Given the description of an element on the screen output the (x, y) to click on. 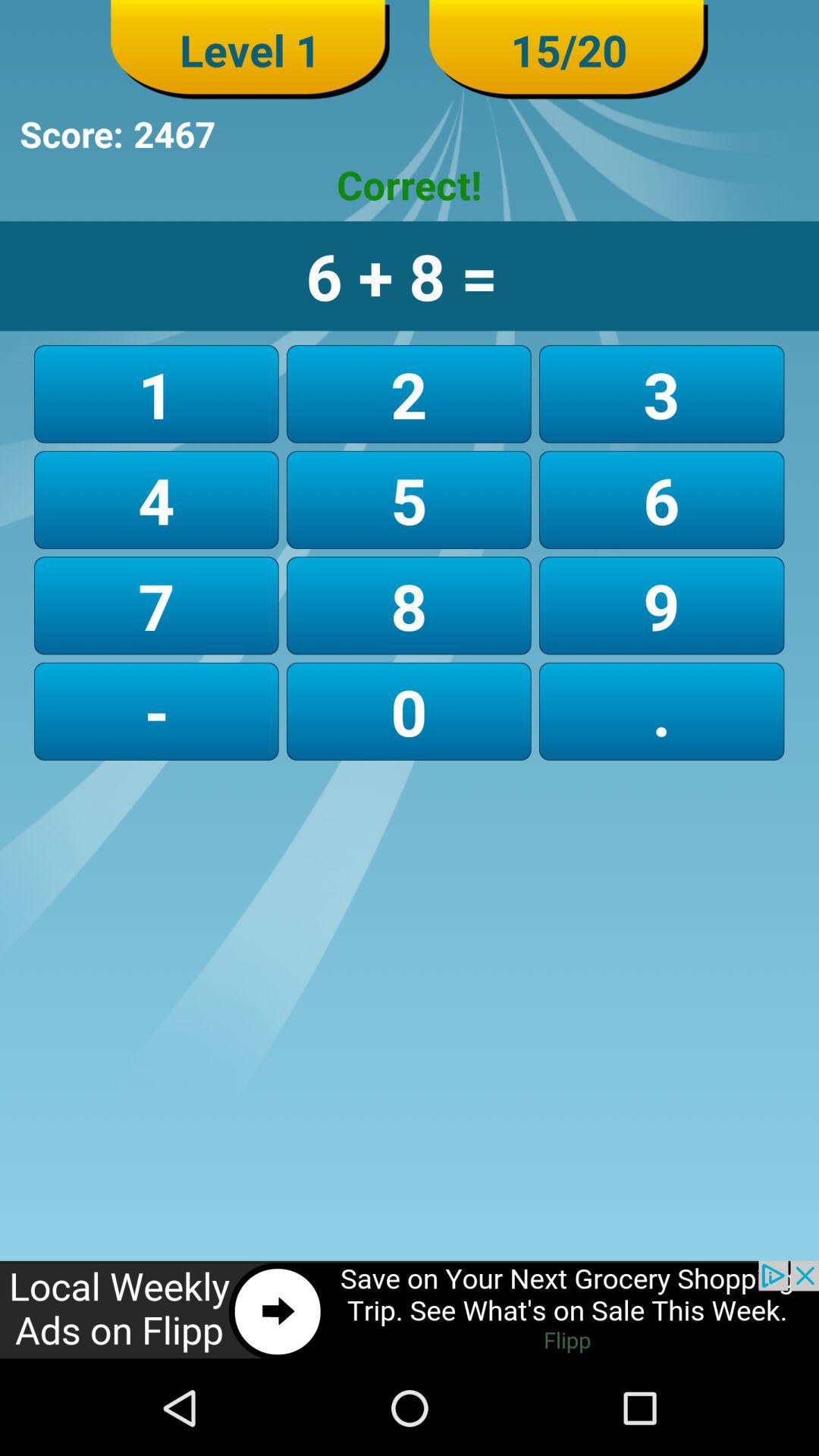
click the advertisement (409, 1310)
